Given the description of an element on the screen output the (x, y) to click on. 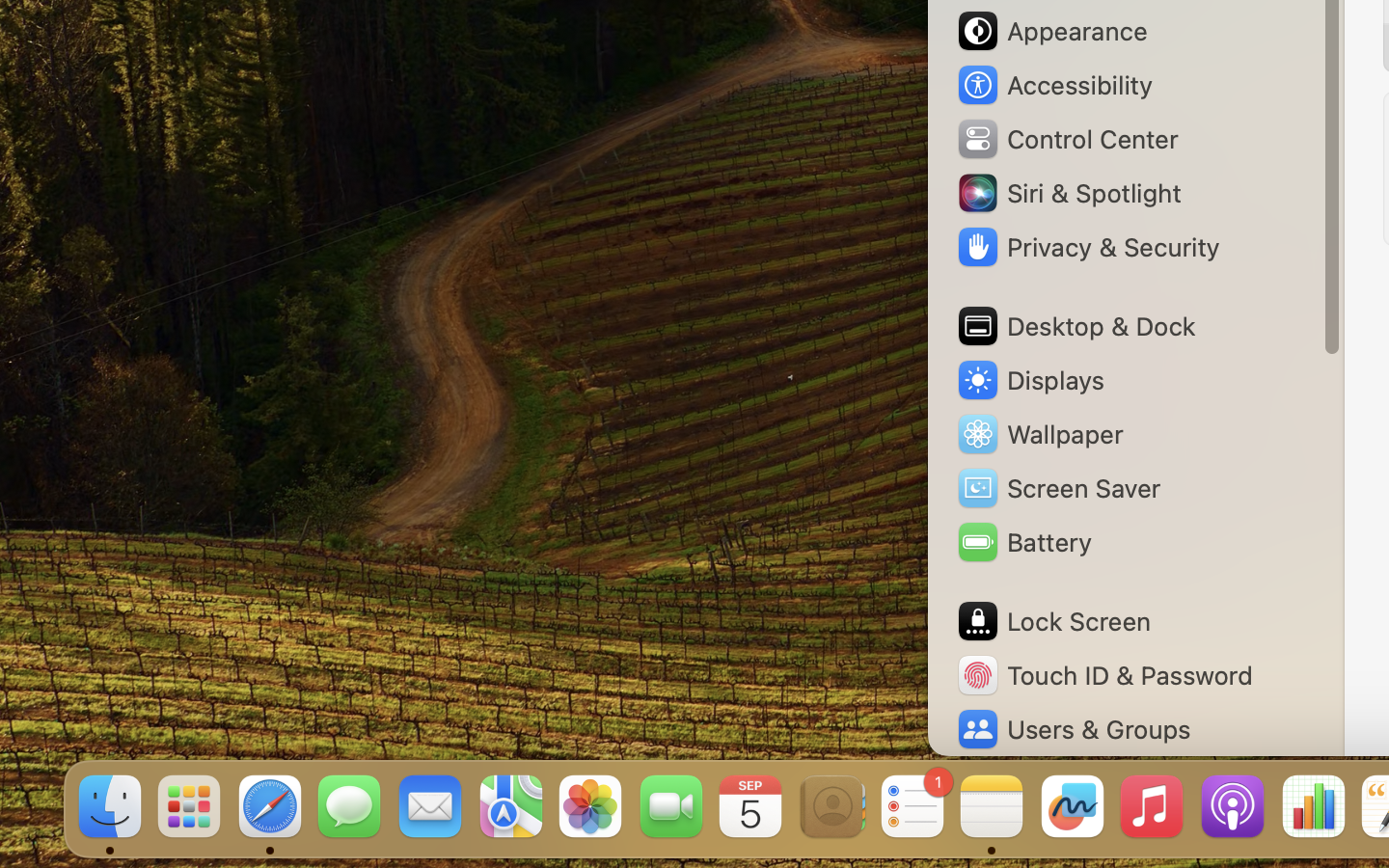
Wallpaper Element type: AXStaticText (1038, 433)
Desktop & Dock Element type: AXStaticText (1075, 325)
Touch ID & Password Element type: AXStaticText (1103, 674)
Displays Element type: AXStaticText (1029, 379)
Privacy & Security Element type: AXStaticText (1086, 246)
